Given the description of an element on the screen output the (x, y) to click on. 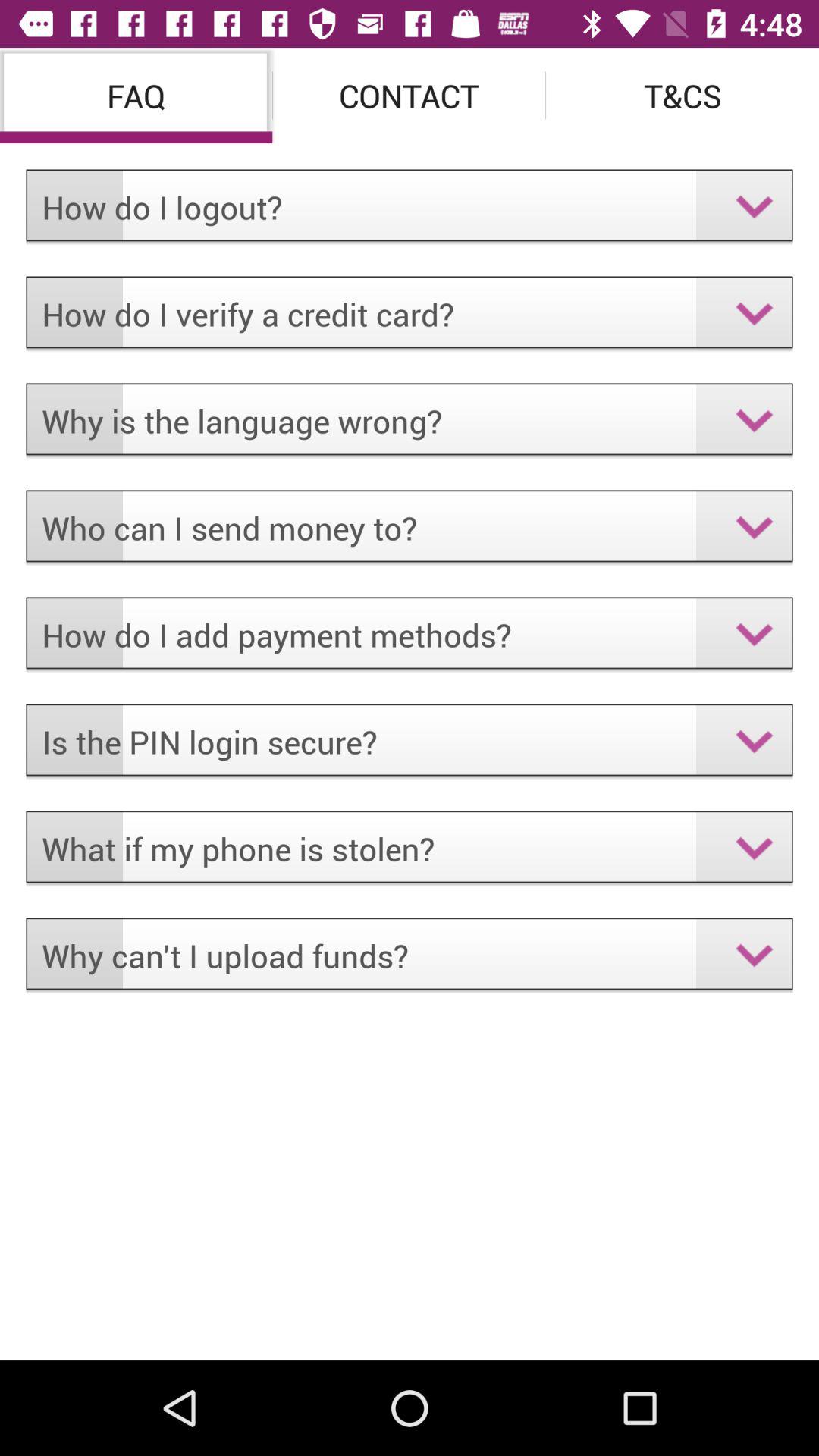
press the item next to contact icon (682, 95)
